Given the description of an element on the screen output the (x, y) to click on. 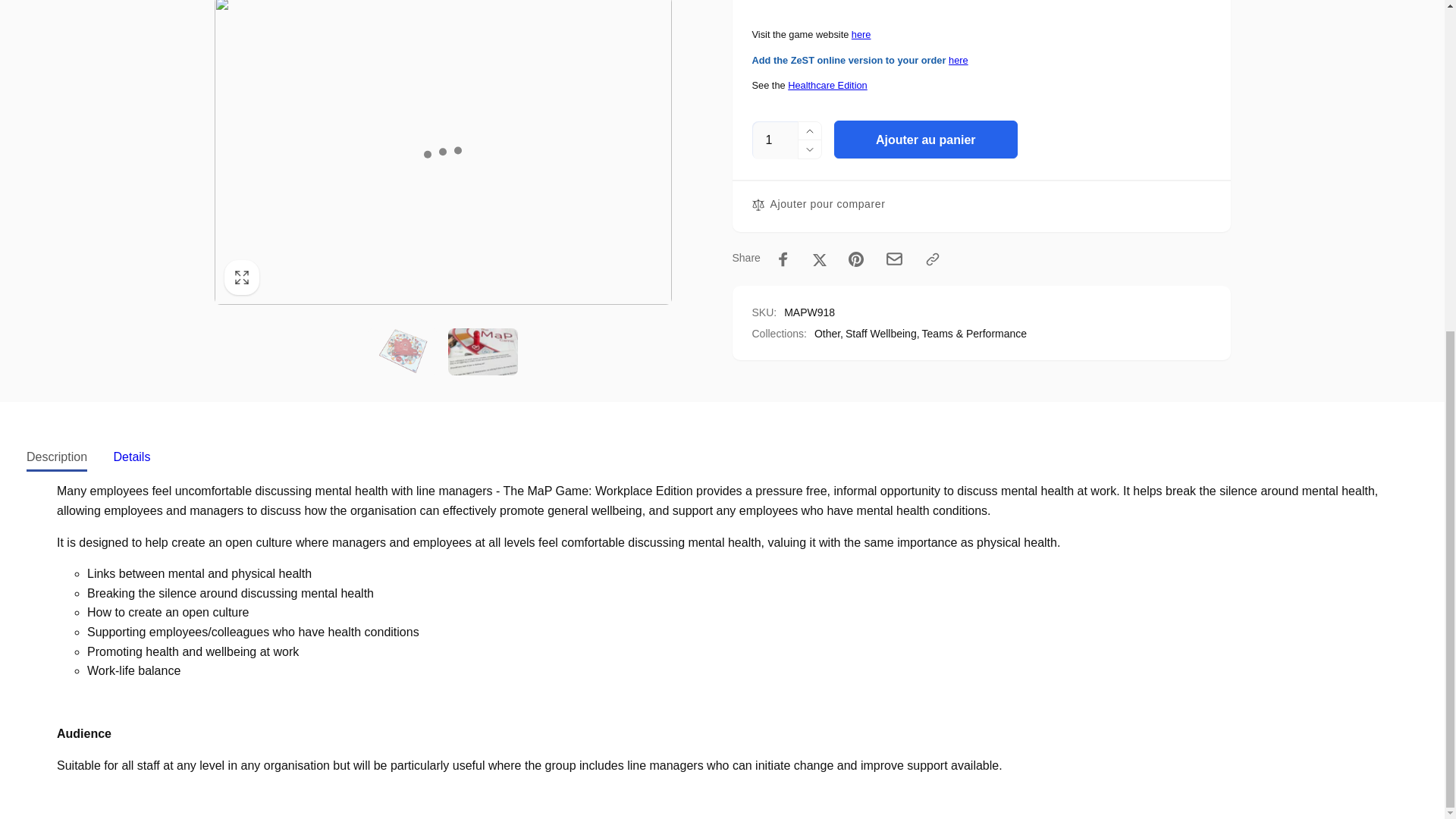
Other (828, 332)
Staff Wellbeing (882, 332)
1 (774, 139)
